Given the description of an element on the screen output the (x, y) to click on. 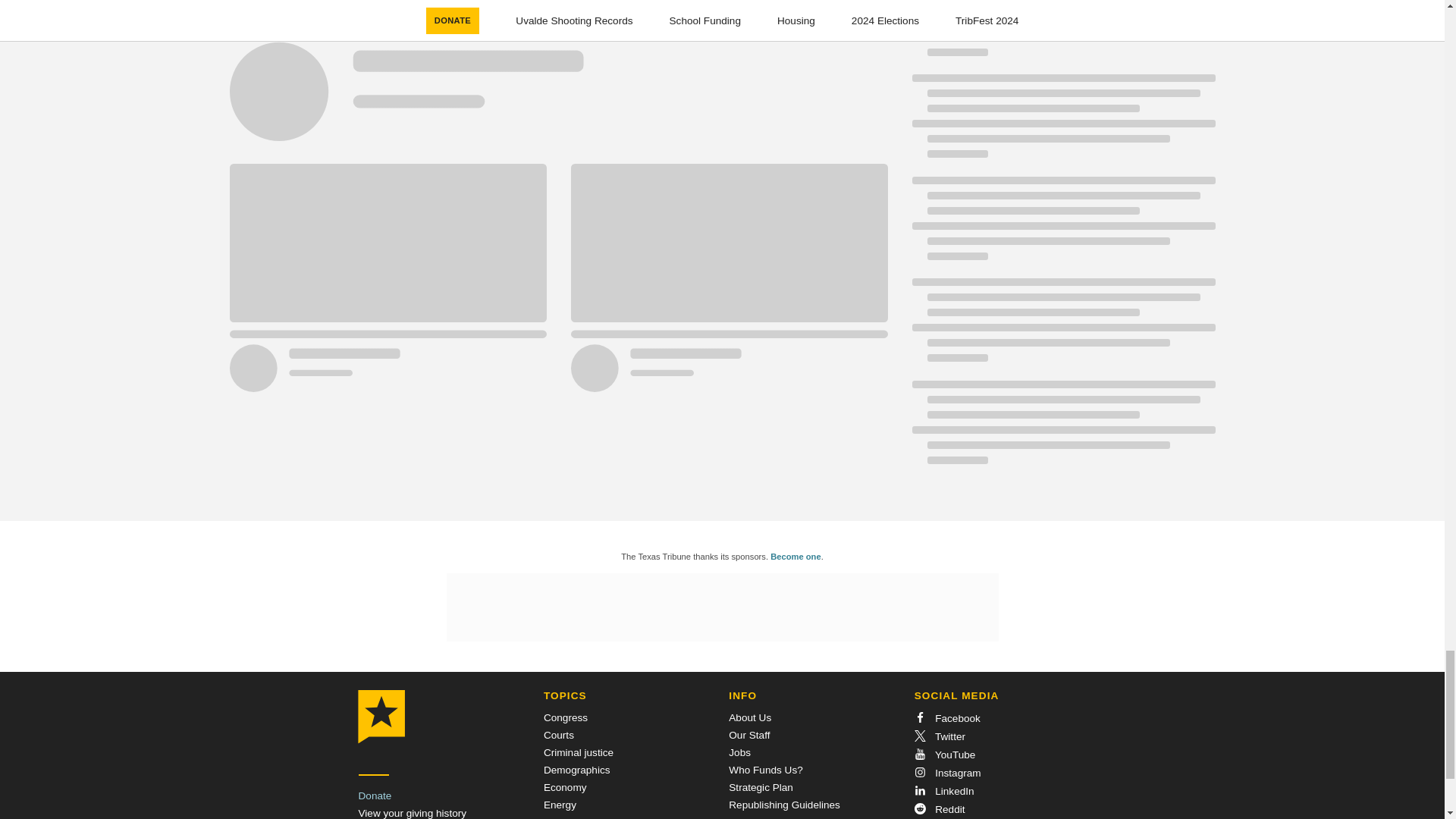
View your giving history (411, 813)
Republishing Guidelines (784, 804)
Strategic Plan (761, 787)
About Us (750, 717)
Donate (374, 795)
Loading indicator (557, 80)
Code of Ethics (761, 817)
Who Funds Us? (765, 769)
